Given the description of an element on the screen output the (x, y) to click on. 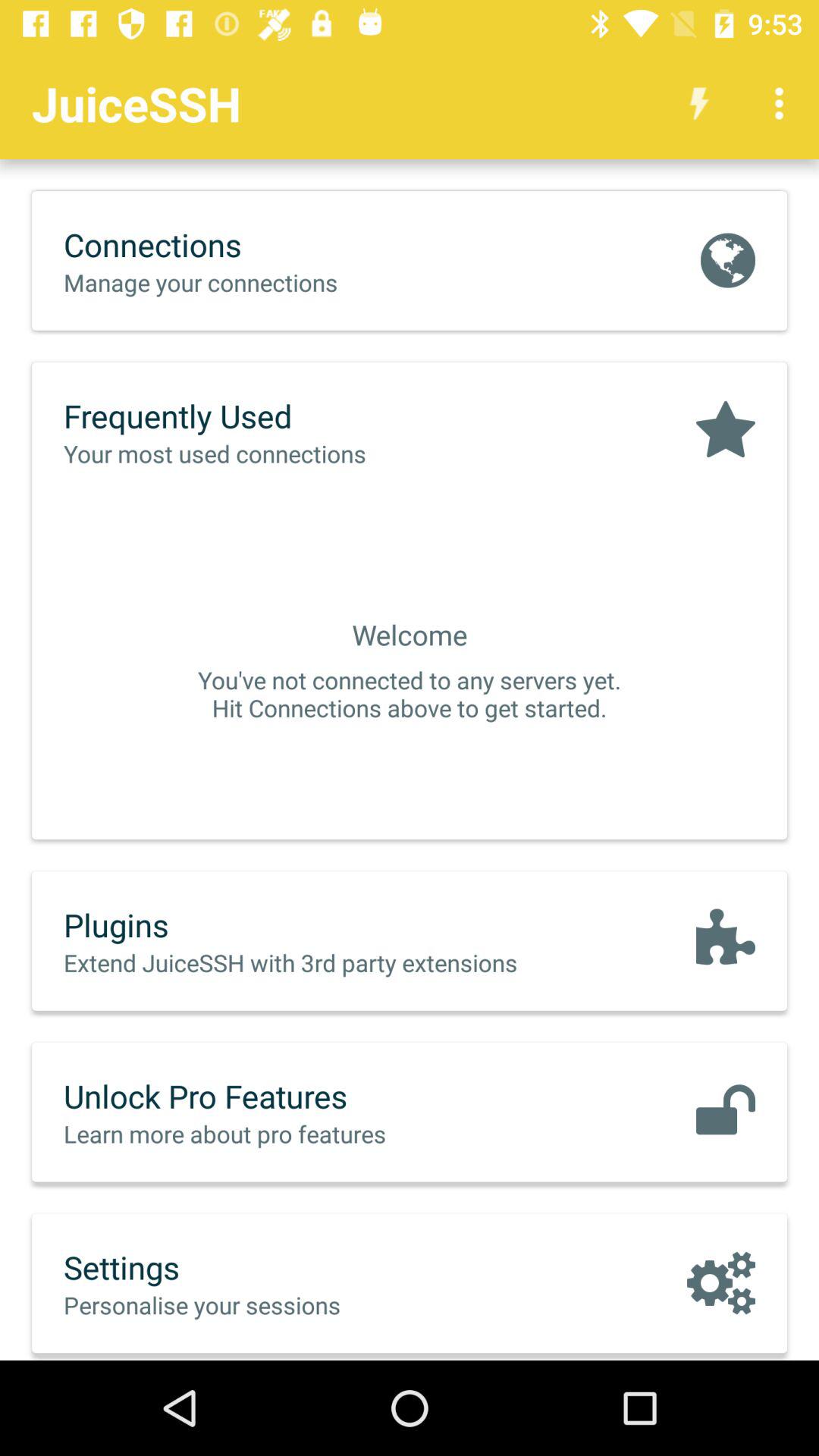
turn on icon next to the settings item (721, 1282)
